Given the description of an element on the screen output the (x, y) to click on. 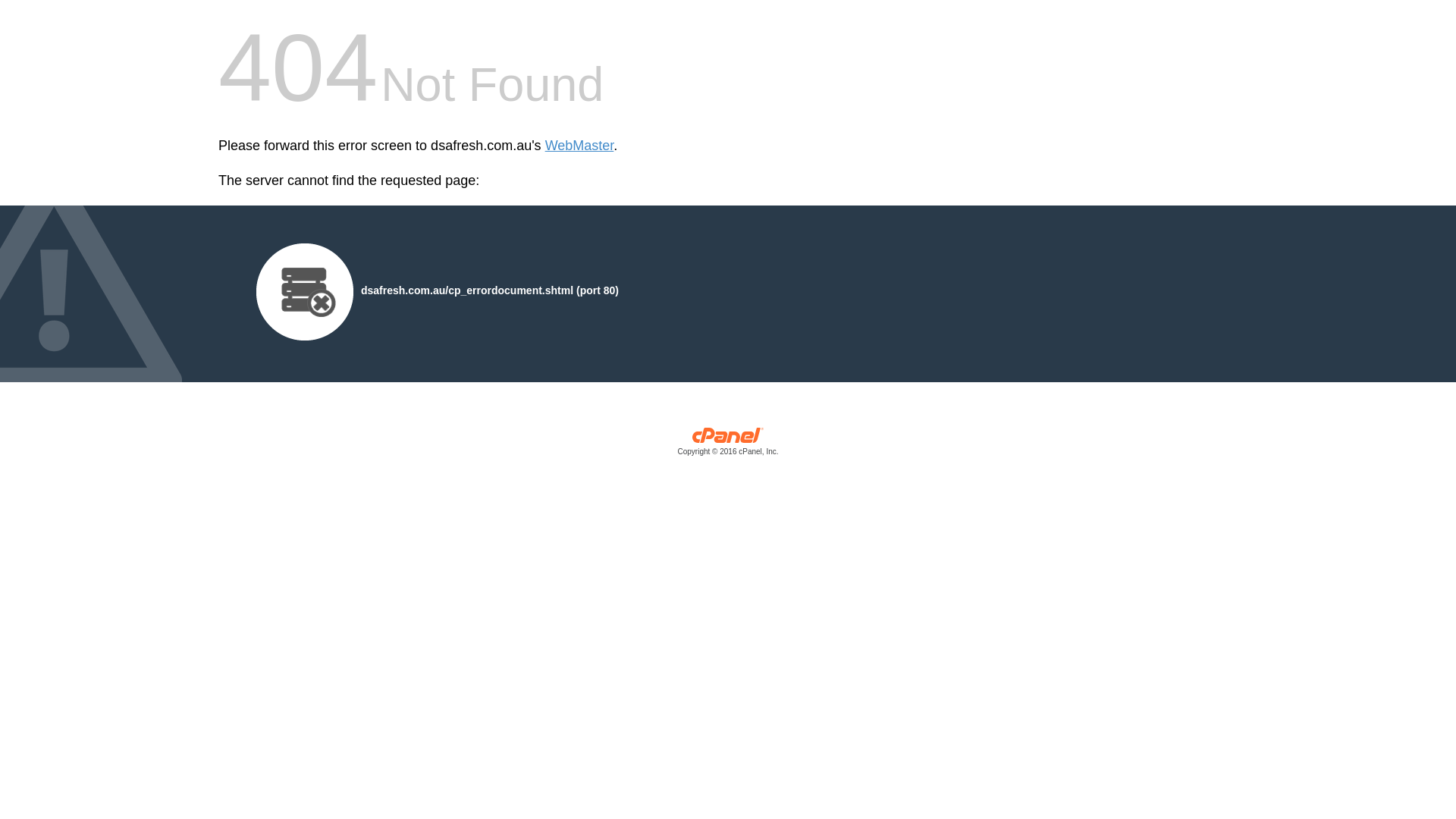
WebMaster Element type: text (579, 145)
